Given the description of an element on the screen output the (x, y) to click on. 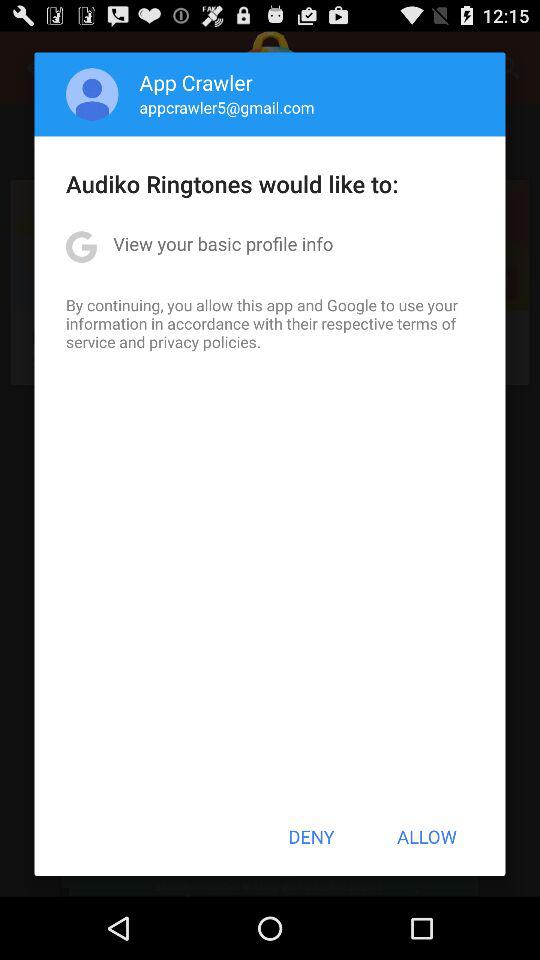
open item to the left of the app crawler icon (92, 94)
